Given the description of an element on the screen output the (x, y) to click on. 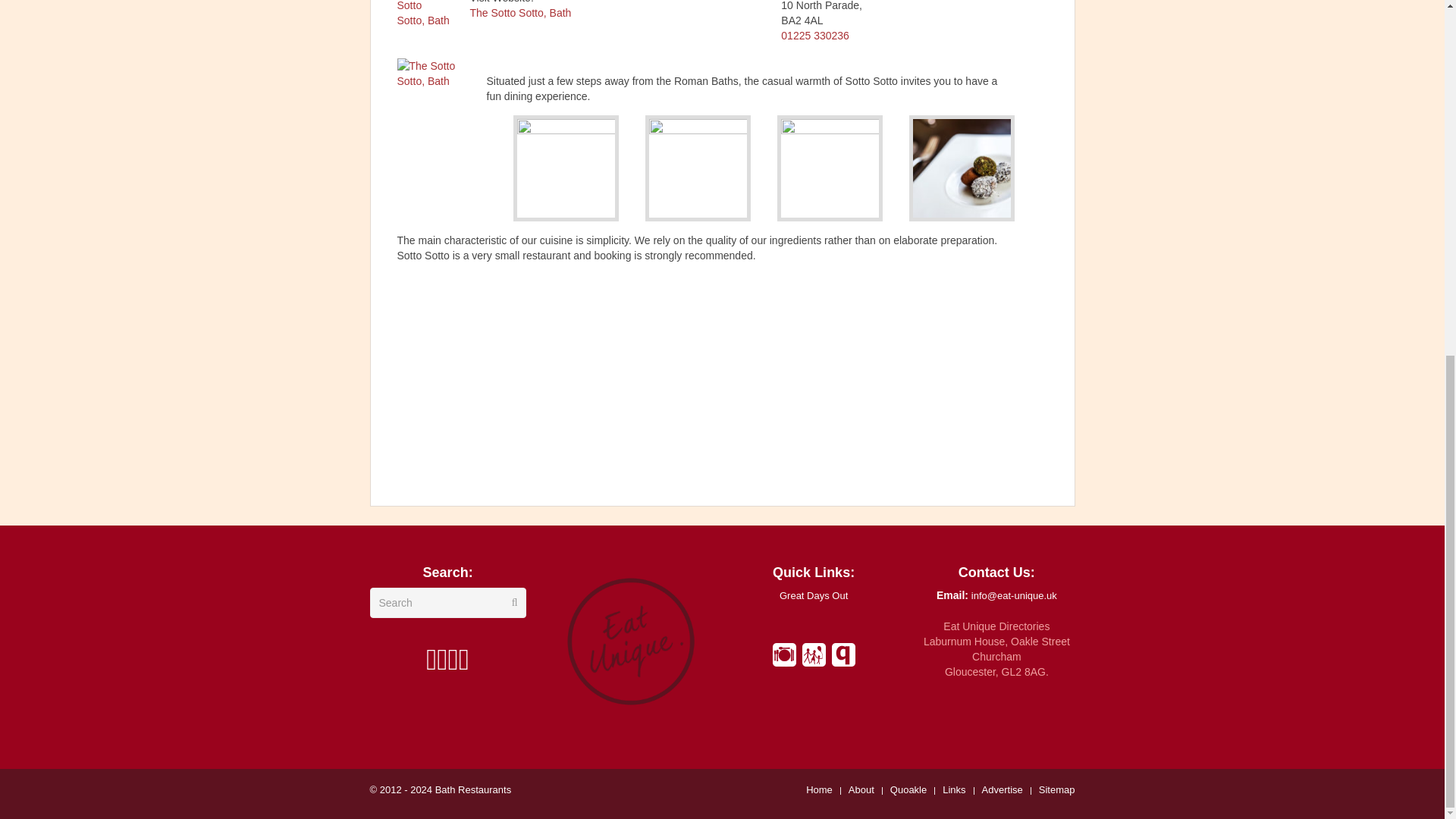
Bath Restaurants (473, 789)
Click for The Sotto Sotto website (436, 97)
Great Days Out (812, 595)
Click for The Sotto Sotto website (424, 18)
The Sotto Sotto, Bath (521, 12)
01225 330236 (814, 35)
Click for The Sotto Sotto website (521, 12)
